Given the description of an element on the screen output the (x, y) to click on. 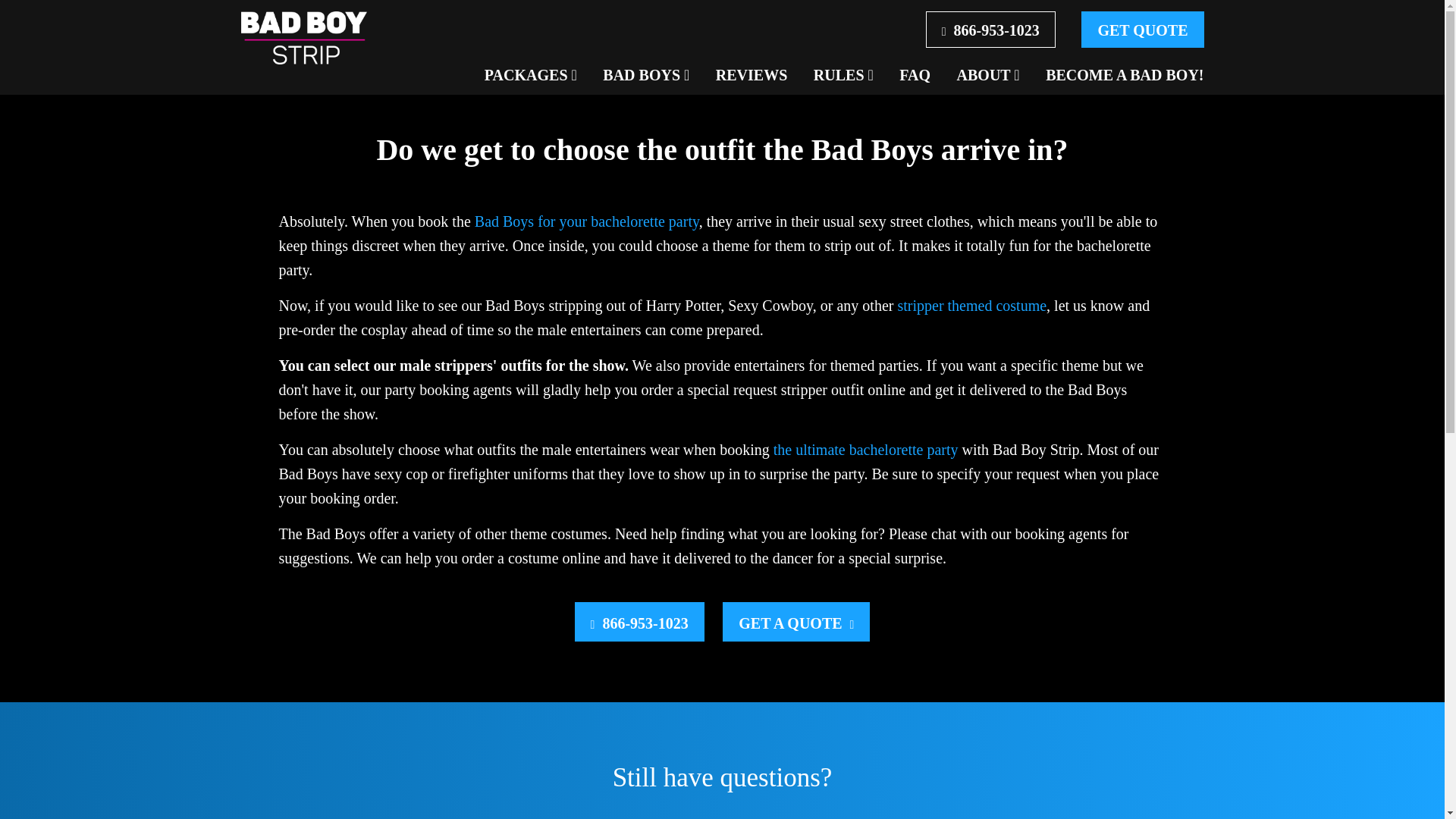
GET QUOTE (1142, 29)
Bad Boys for your bachelorette party (586, 221)
stripper themed costume (971, 305)
ultimate bachelorette party (865, 449)
866-953-1023 (990, 29)
REVIEWS (751, 74)
866-953-1023 (639, 621)
male strippers bachelorette party (586, 221)
stripper themed costumes (971, 305)
GET A QUOTE (795, 621)
BECOME A BAD BOY! (1124, 74)
FAQ (914, 74)
the ultimate bachelorette party (865, 449)
